Given the description of an element on the screen output the (x, y) to click on. 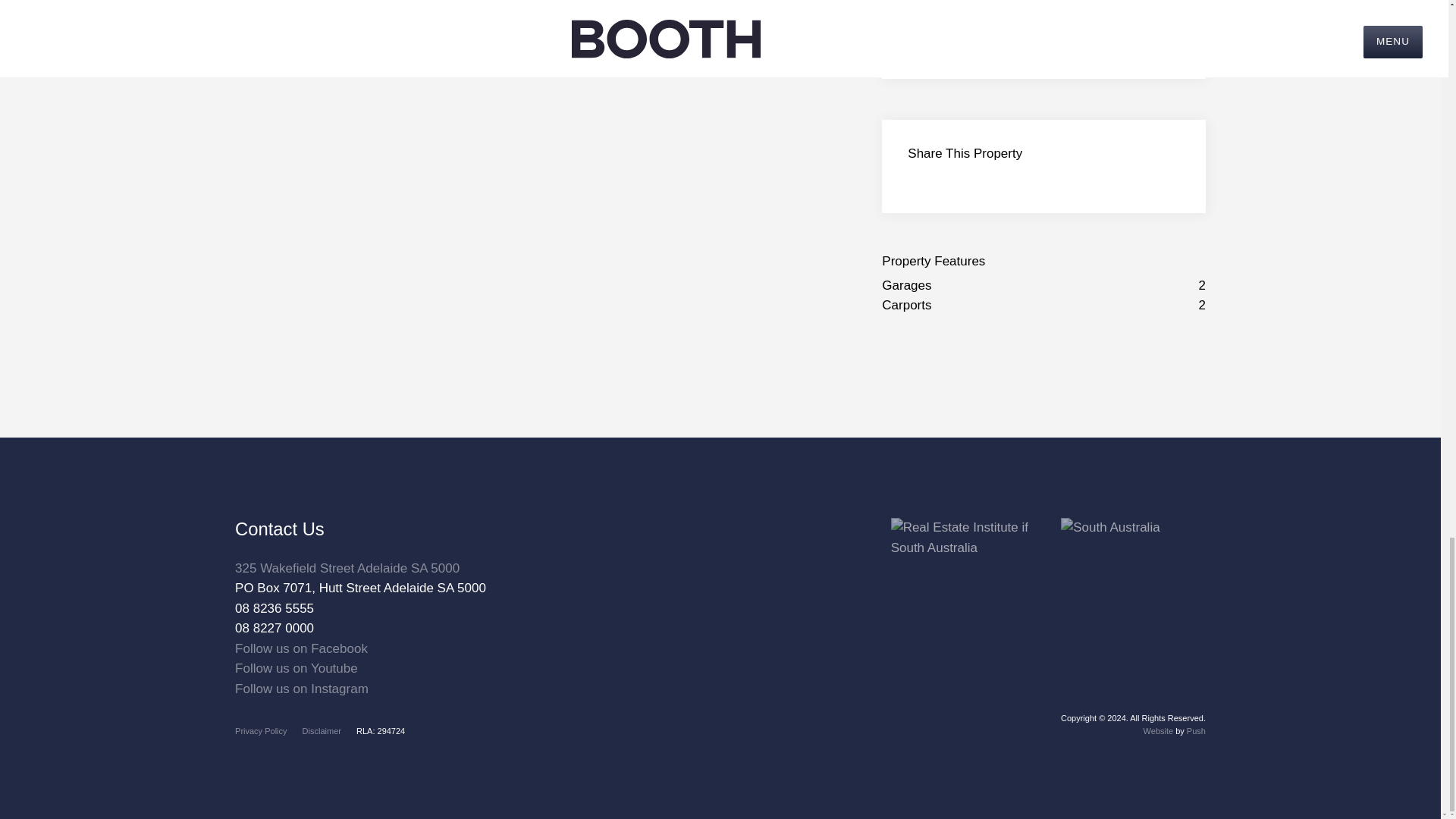
ENQUIRE ABOUT THIS PROPERTY (1043, 33)
Follow us on Youtube (296, 667)
Disclaimer (321, 730)
Follow us on Facebook (301, 648)
Follow us on Instagram (301, 688)
Privacy Policy (260, 730)
325 Wakefield Street Adelaide SA 5000 (347, 568)
